Given the description of an element on the screen output the (x, y) to click on. 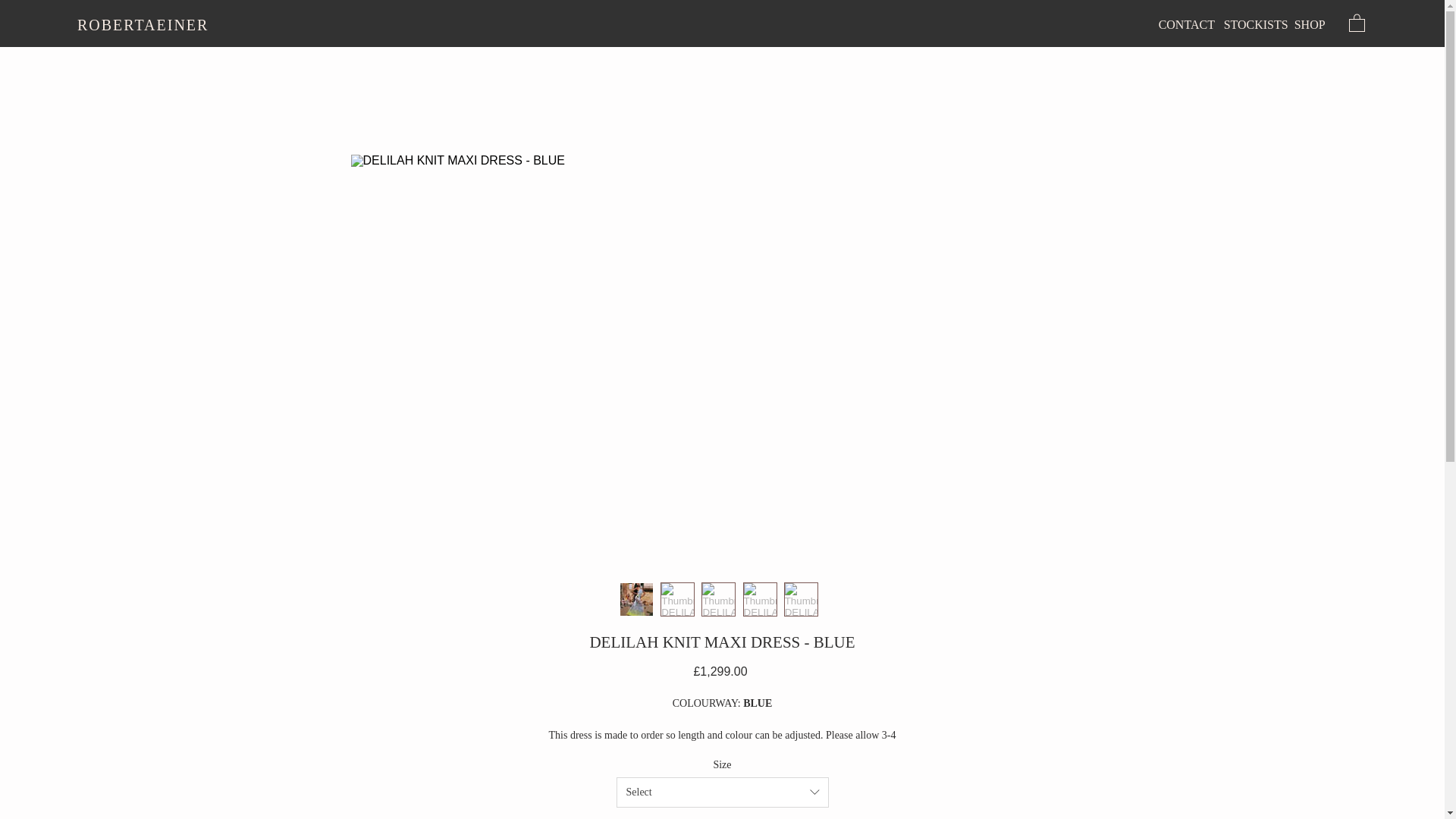
ROBERTAEINER (142, 24)
  SHOP    (1310, 24)
 STOCKISTS (1254, 24)
Select (721, 792)
CONTACT (1186, 24)
